Given the description of an element on the screen output the (x, y) to click on. 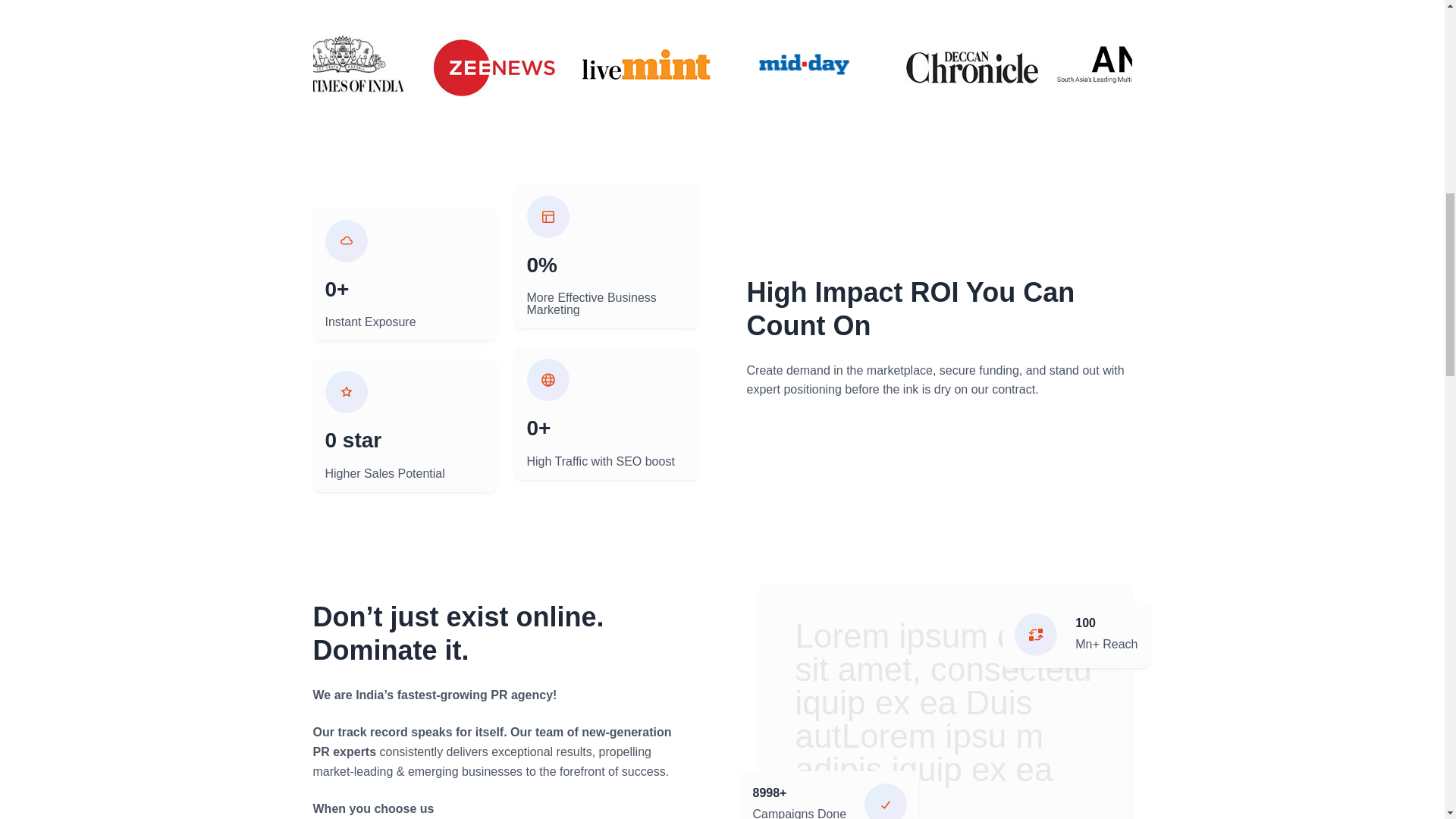
replace icon (1035, 634)
check icon (885, 800)
star empty icon (345, 392)
globe icon (547, 379)
layout icon (547, 216)
cloud icon (345, 241)
